Given the description of an element on the screen output the (x, y) to click on. 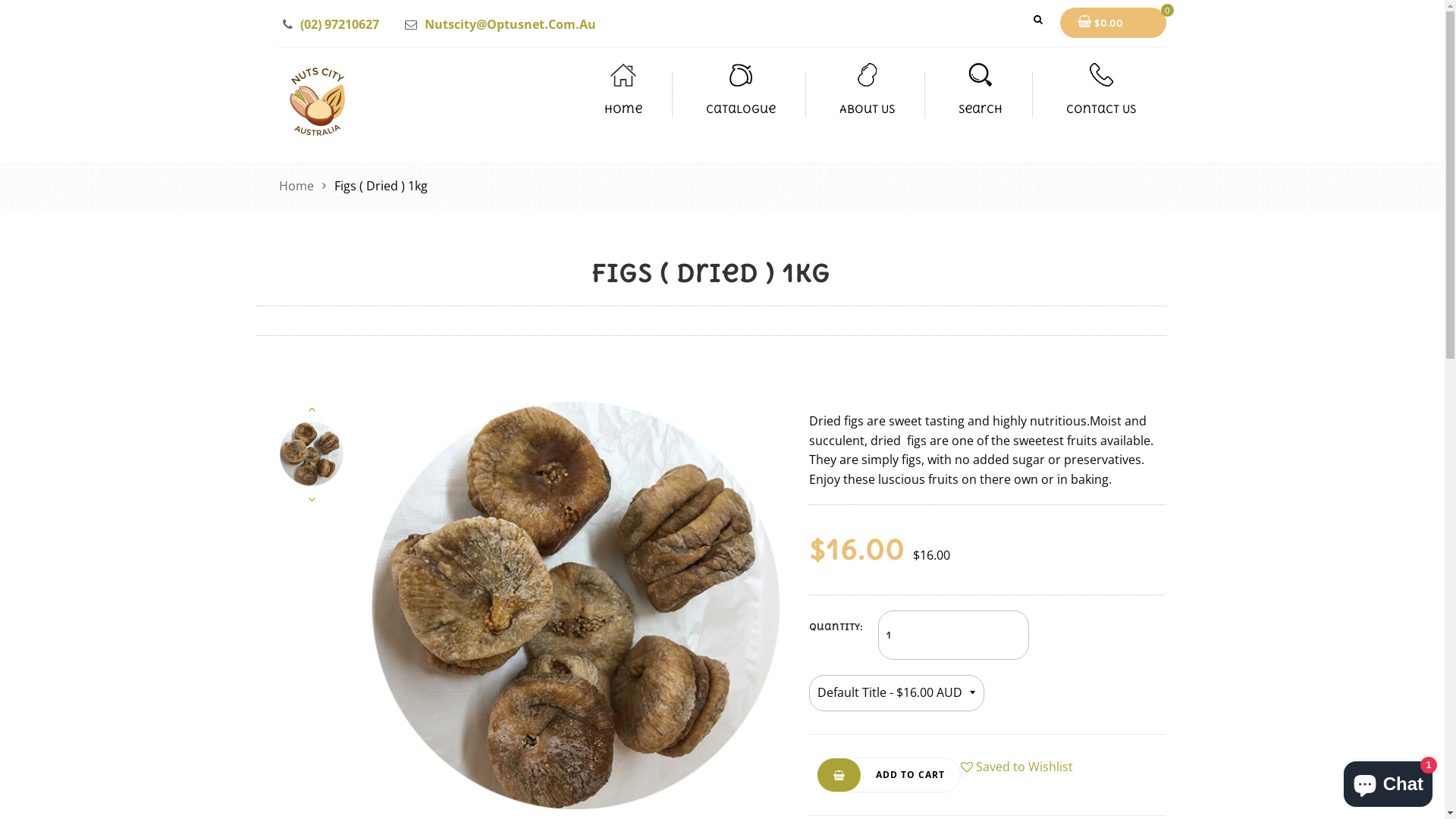
Contact Us Element type: text (1100, 108)
Search Element type: text (1037, 19)
Catalogue Element type: text (739, 108)
Figs ( Dried ) 1kg Element type: hover (576, 605)
Home Element type: text (299, 186)
Saved to Wishlist Element type: text (1016, 766)
ADD TO CART Element type: text (888, 774)
Search Element type: text (980, 108)
(02) 97210627 Element type: text (339, 23)
0
$0.00 Element type: text (1113, 22)
Shopify online store chat Element type: hover (1388, 780)
About Us Element type: text (866, 108)
Home Element type: text (622, 108)
Nutscity@Optusnet.Com.Au Element type: text (510, 23)
